Given the description of an element on the screen output the (x, y) to click on. 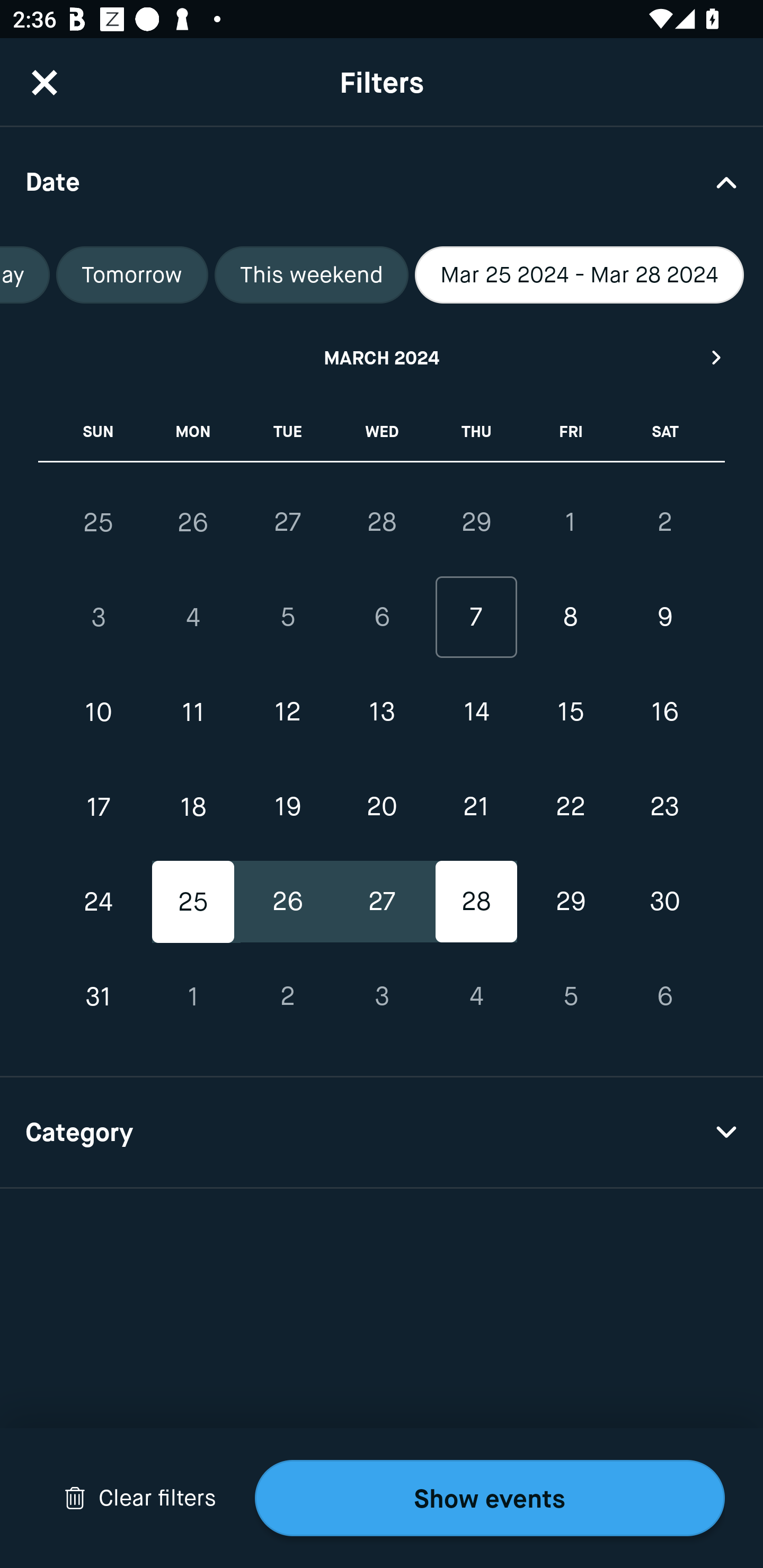
CloseButton (44, 82)
Date Drop Down Arrow (381, 181)
Tomorrow (132, 274)
This weekend (311, 274)
Mar 25 2024 - Mar 28 2024 (579, 274)
Next (717, 357)
25 (98, 522)
26 (192, 522)
27 (287, 522)
28 (381, 522)
29 (475, 522)
1 (570, 522)
2 (664, 522)
3 (98, 617)
4 (192, 617)
5 (287, 617)
6 (381, 617)
7 (475, 617)
8 (570, 617)
9 (664, 617)
10 (98, 711)
11 (192, 711)
12 (287, 711)
13 (381, 711)
14 (475, 711)
15 (570, 711)
16 (664, 711)
17 (98, 806)
18 (192, 806)
19 (287, 806)
20 (381, 806)
21 (475, 806)
22 (570, 806)
23 (664, 806)
24 (98, 901)
25 (192, 901)
26 (287, 901)
27 (381, 901)
28 (475, 901)
29 (570, 901)
30 (664, 901)
31 (98, 996)
1 (192, 996)
2 (287, 996)
3 (381, 996)
4 (475, 996)
5 (570, 996)
6 (664, 996)
Category Drop Down Arrow (381, 1132)
Drop Down Arrow Clear filters (139, 1497)
Show events (489, 1497)
